Given the description of an element on the screen output the (x, y) to click on. 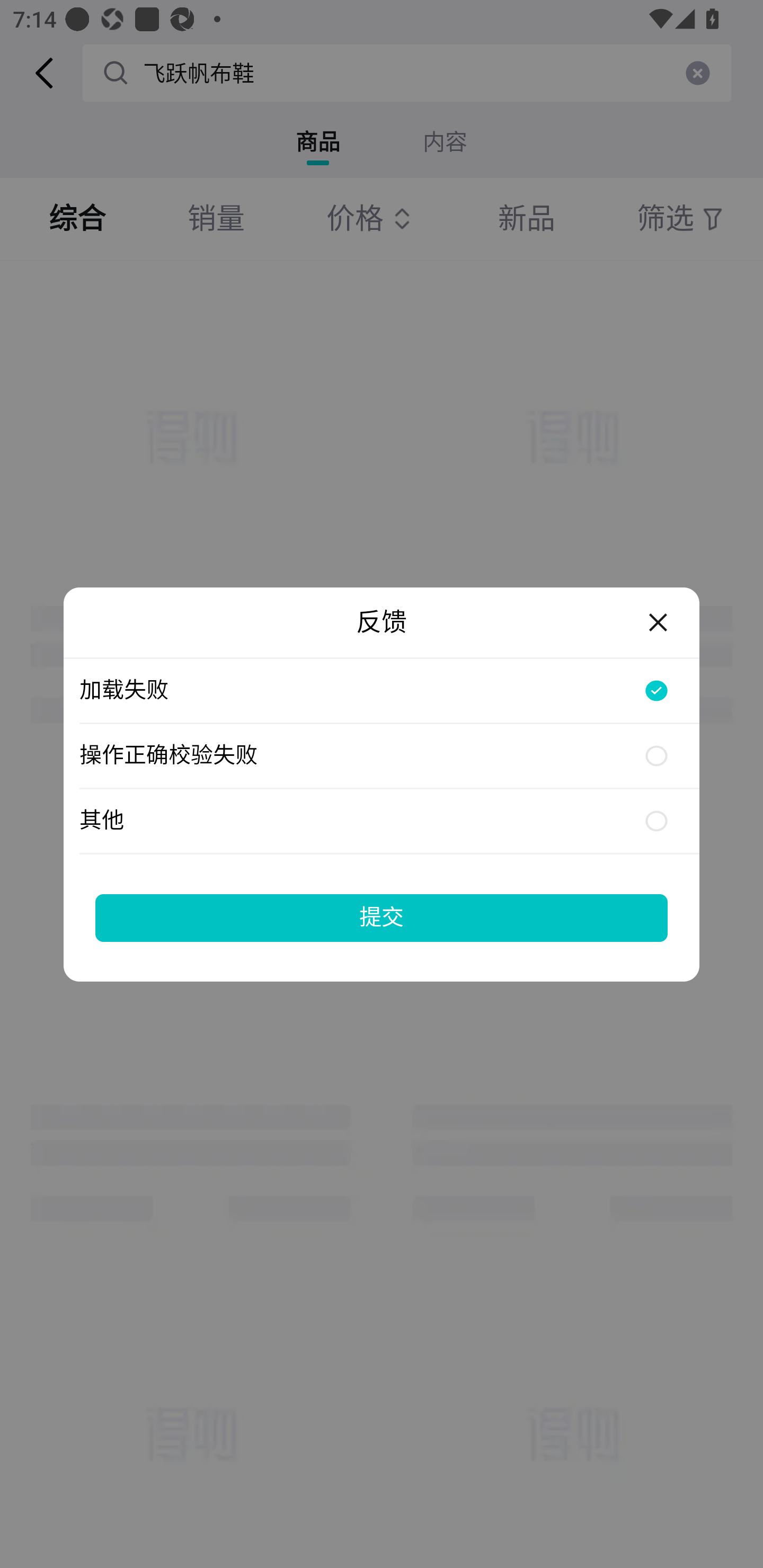
提交 (381, 917)
